Given the description of an element on the screen output the (x, y) to click on. 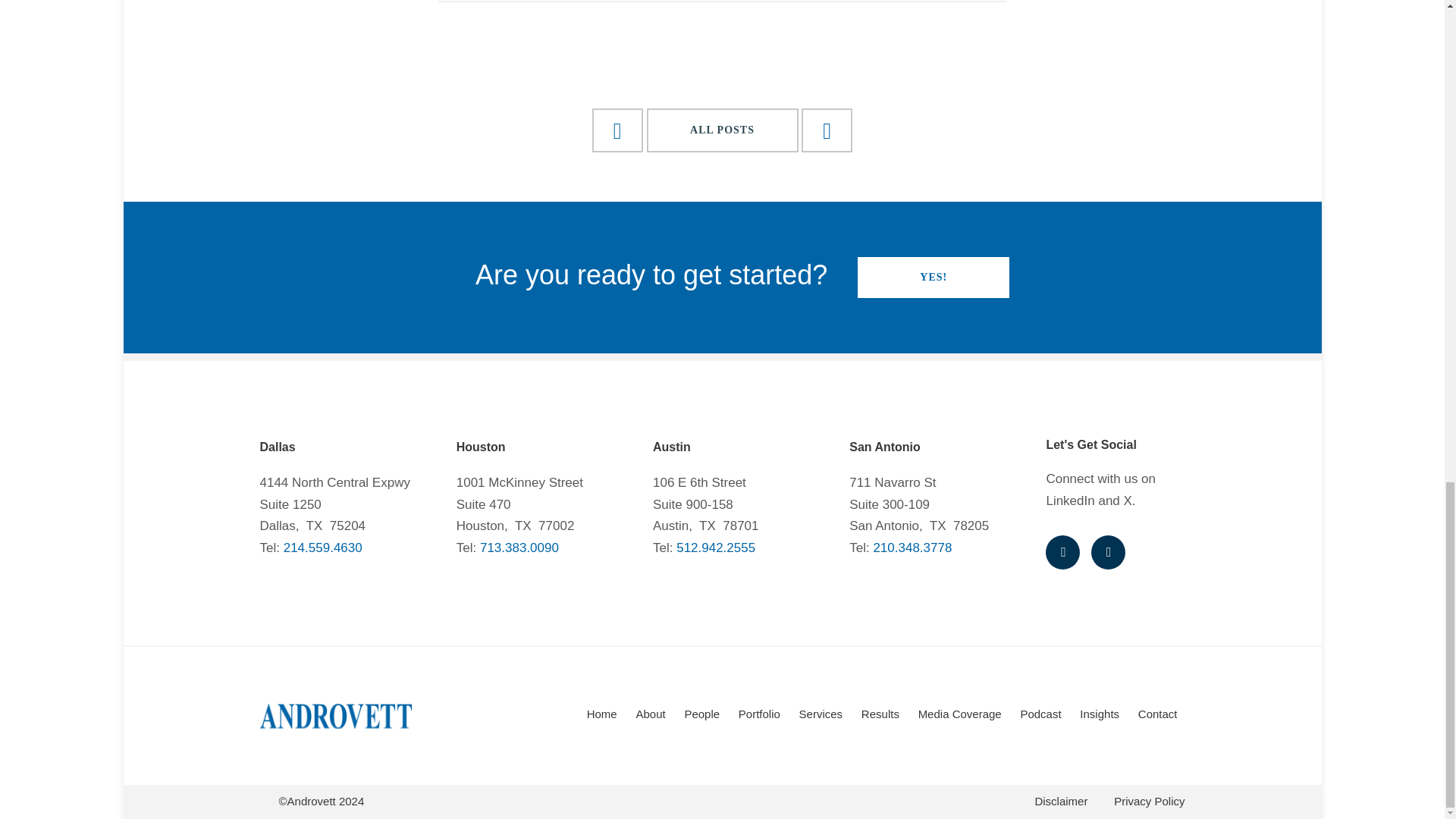
512.942.2555 (716, 547)
Home (601, 713)
YES! (933, 276)
210.348.3778 (912, 547)
About (649, 713)
Austin (671, 445)
713.383.0090 (519, 547)
214.559.4630 (322, 547)
ALL POSTS (721, 129)
